Given the description of an element on the screen output the (x, y) to click on. 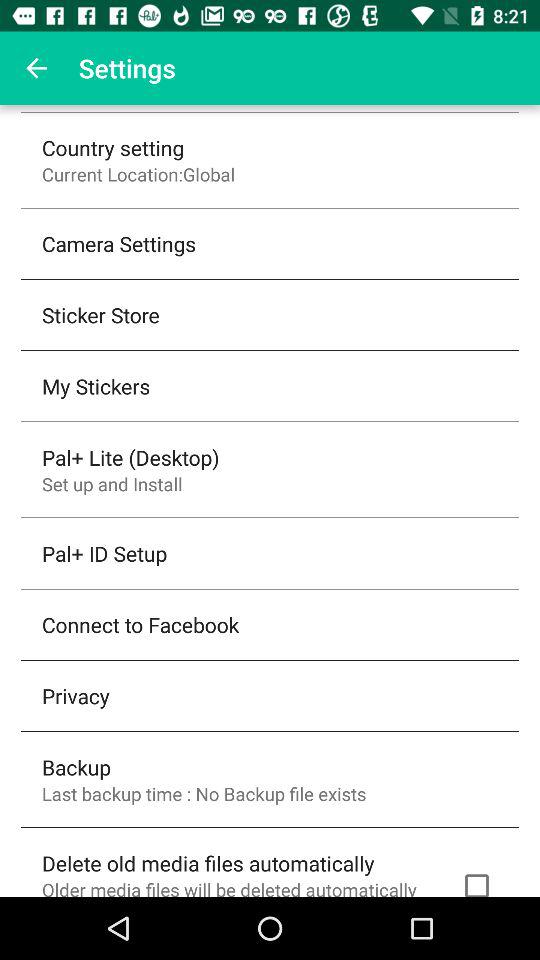
click the my stickers icon (96, 385)
